Given the description of an element on the screen output the (x, y) to click on. 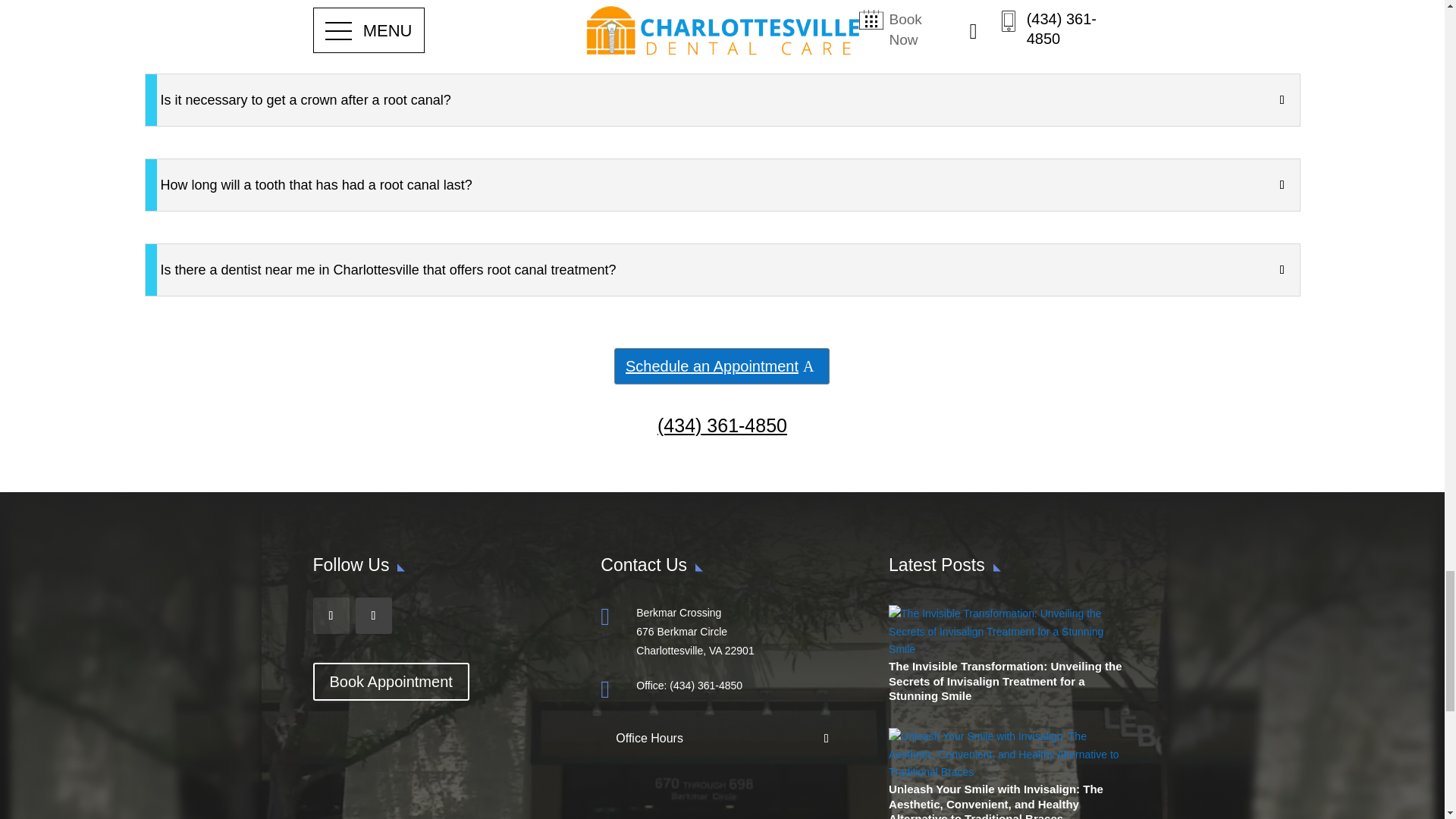
Follow on Facebook (331, 615)
Follow on Google (373, 615)
